Given the description of an element on the screen output the (x, y) to click on. 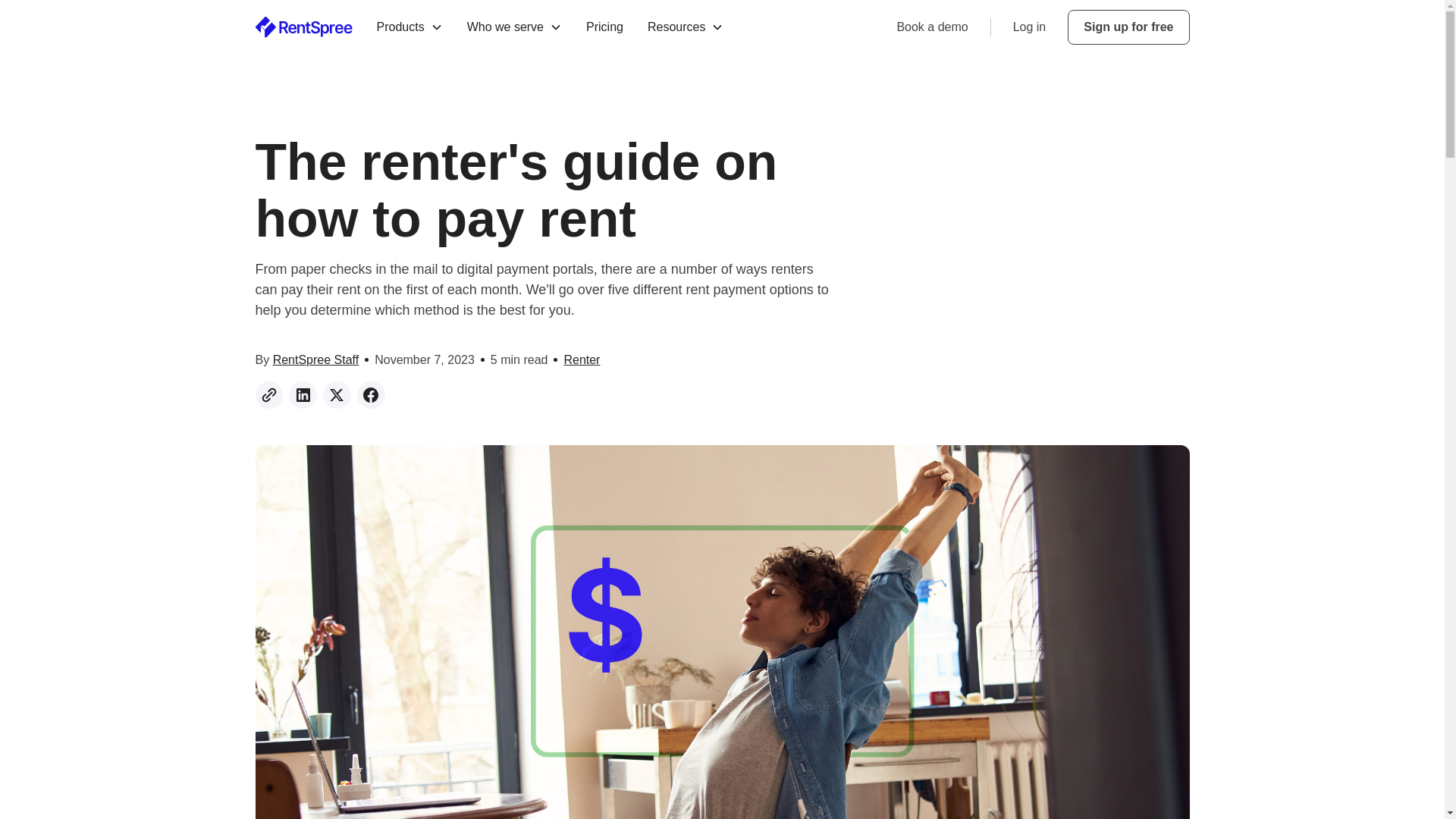
RentSpree Staff (316, 359)
Log in (1029, 26)
Renter (581, 360)
Book a demo (932, 26)
Sign up for free (1128, 26)
Pricing (603, 27)
